Given the description of an element on the screen output the (x, y) to click on. 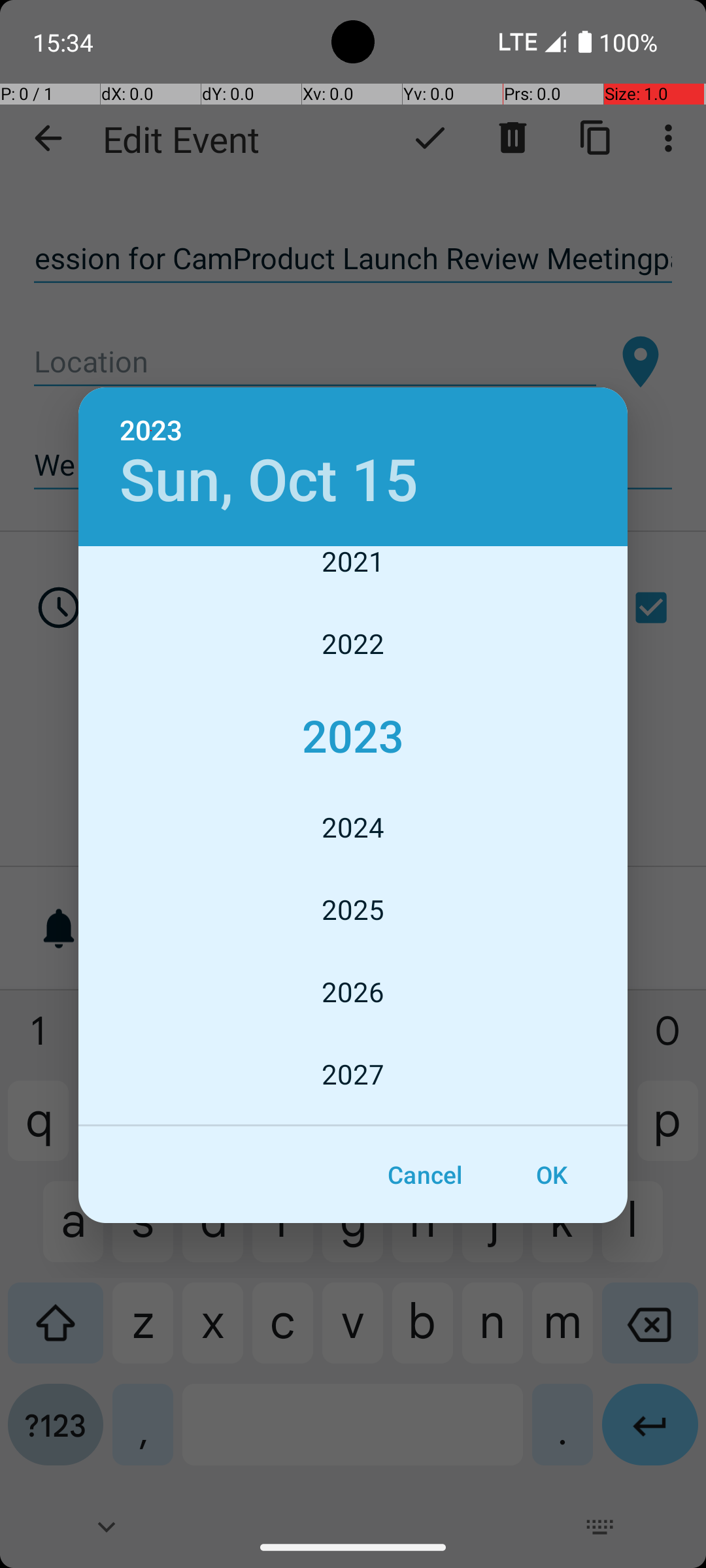
2021 Element type: android.widget.TextView (352, 574)
2026 Element type: android.widget.TextView (352, 991)
2027 Element type: android.widget.TextView (352, 1073)
2028 Element type: android.widget.TextView (352, 1120)
